Given the description of an element on the screen output the (x, y) to click on. 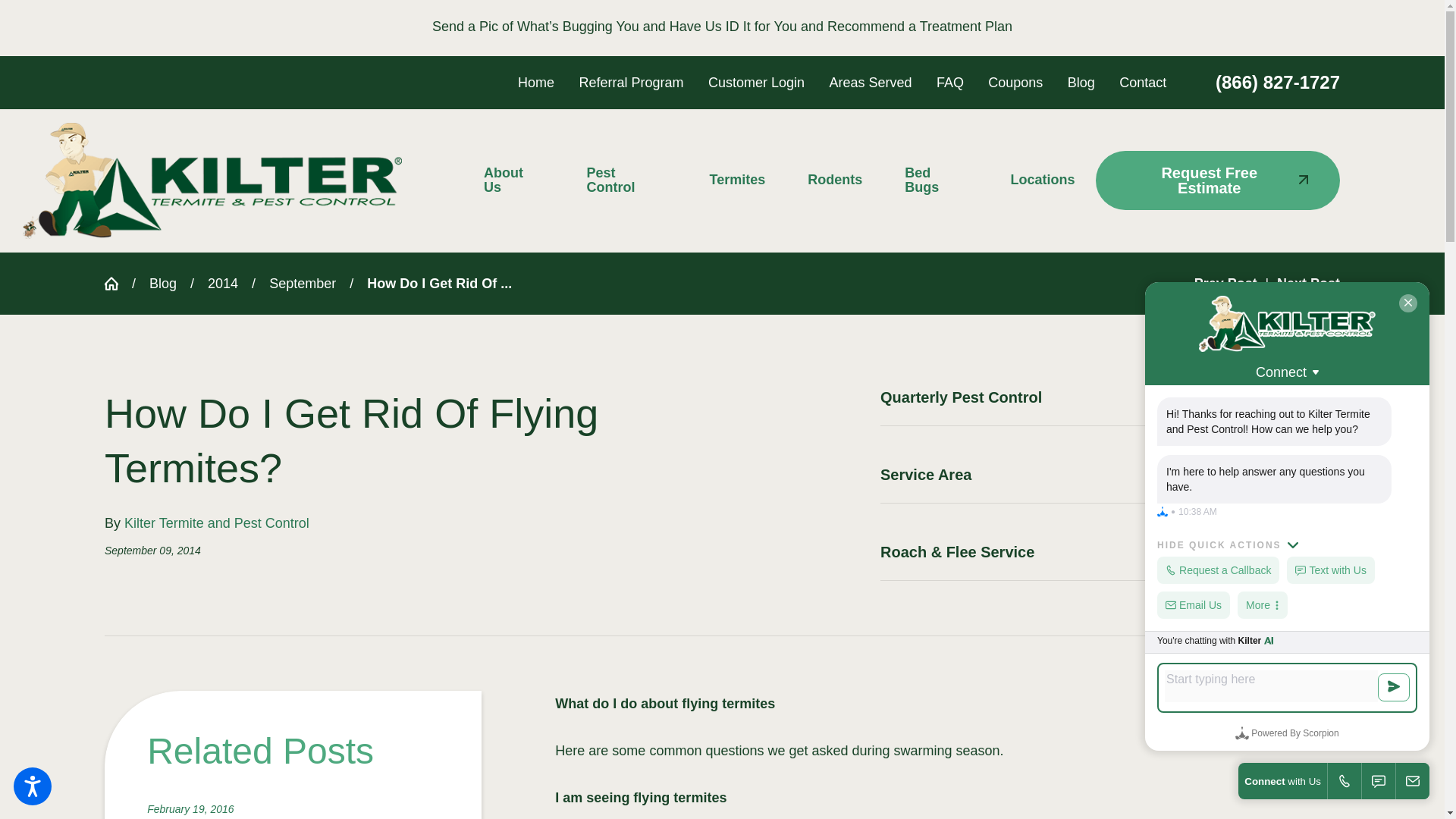
Termites (737, 179)
Contact (1142, 82)
Blog (1080, 82)
Go Home (118, 283)
Pest Control (625, 180)
Customer Login (756, 82)
Home (536, 82)
FAQ (949, 82)
Referral Program (631, 82)
Areas Served (869, 82)
Open the accessibility options menu (31, 786)
Coupons (1015, 82)
Kilter Termite and Pest Control (212, 180)
About Us (523, 180)
